Given the description of an element on the screen output the (x, y) to click on. 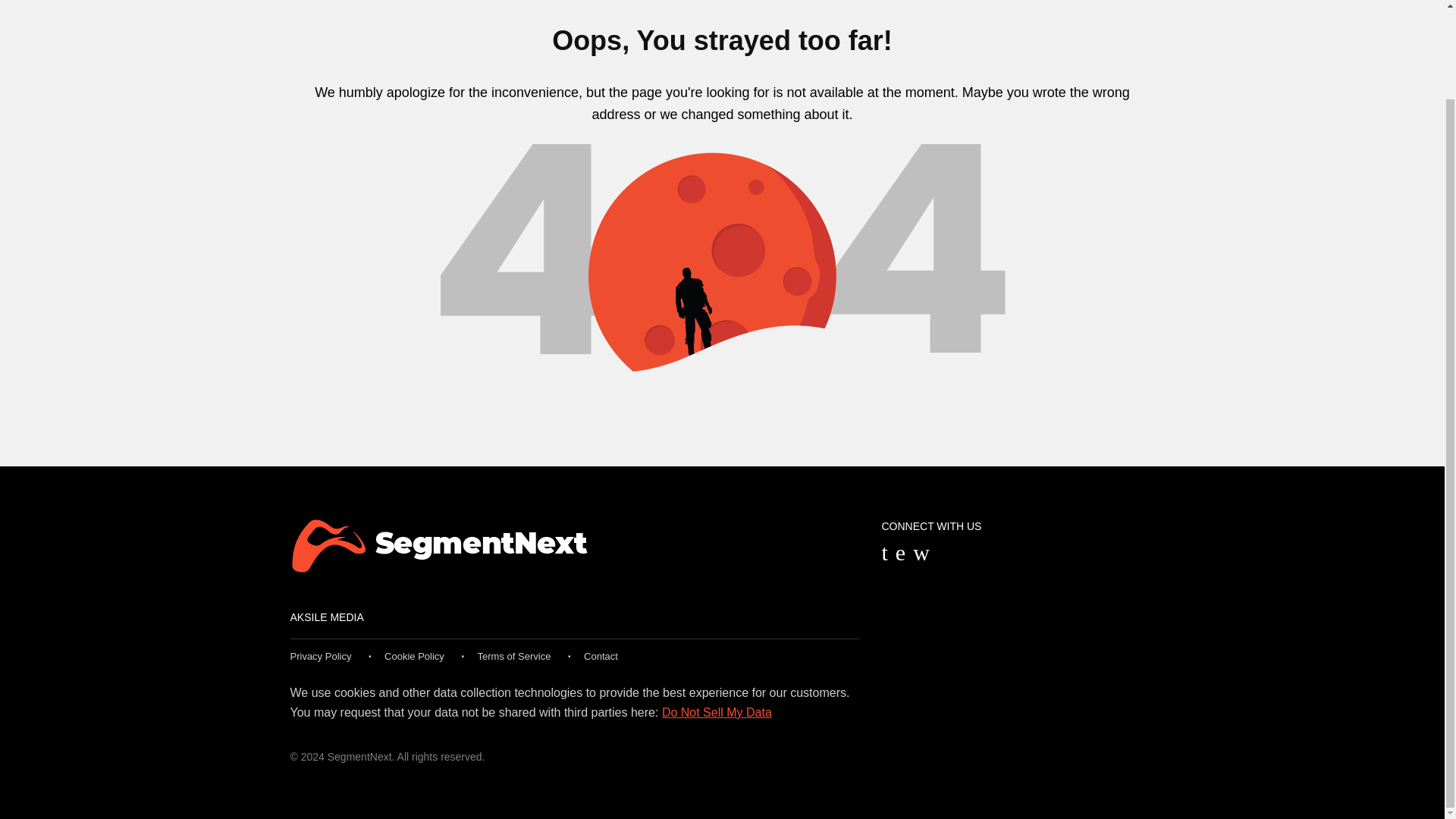
Do Not Sell My Data (716, 712)
Privacy Policy (319, 655)
Contact (600, 655)
Cookie Policy (414, 655)
Terms of Service (514, 655)
